Given the description of an element on the screen output the (x, y) to click on. 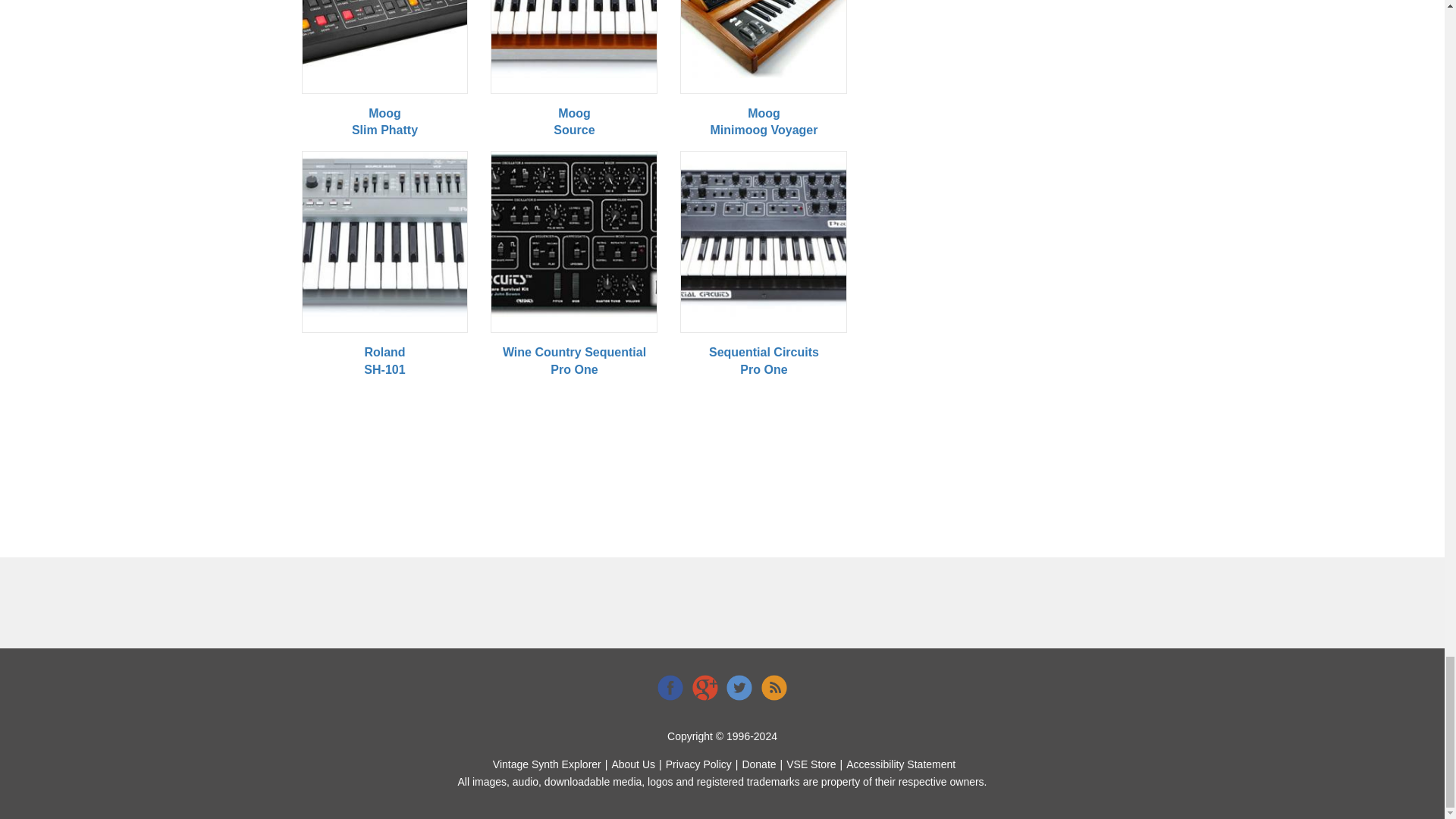
Subscribe to our News Feed (774, 687)
Like us on Facebook (670, 687)
Follow us on Twitter (739, 687)
